Given the description of an element on the screen output the (x, y) to click on. 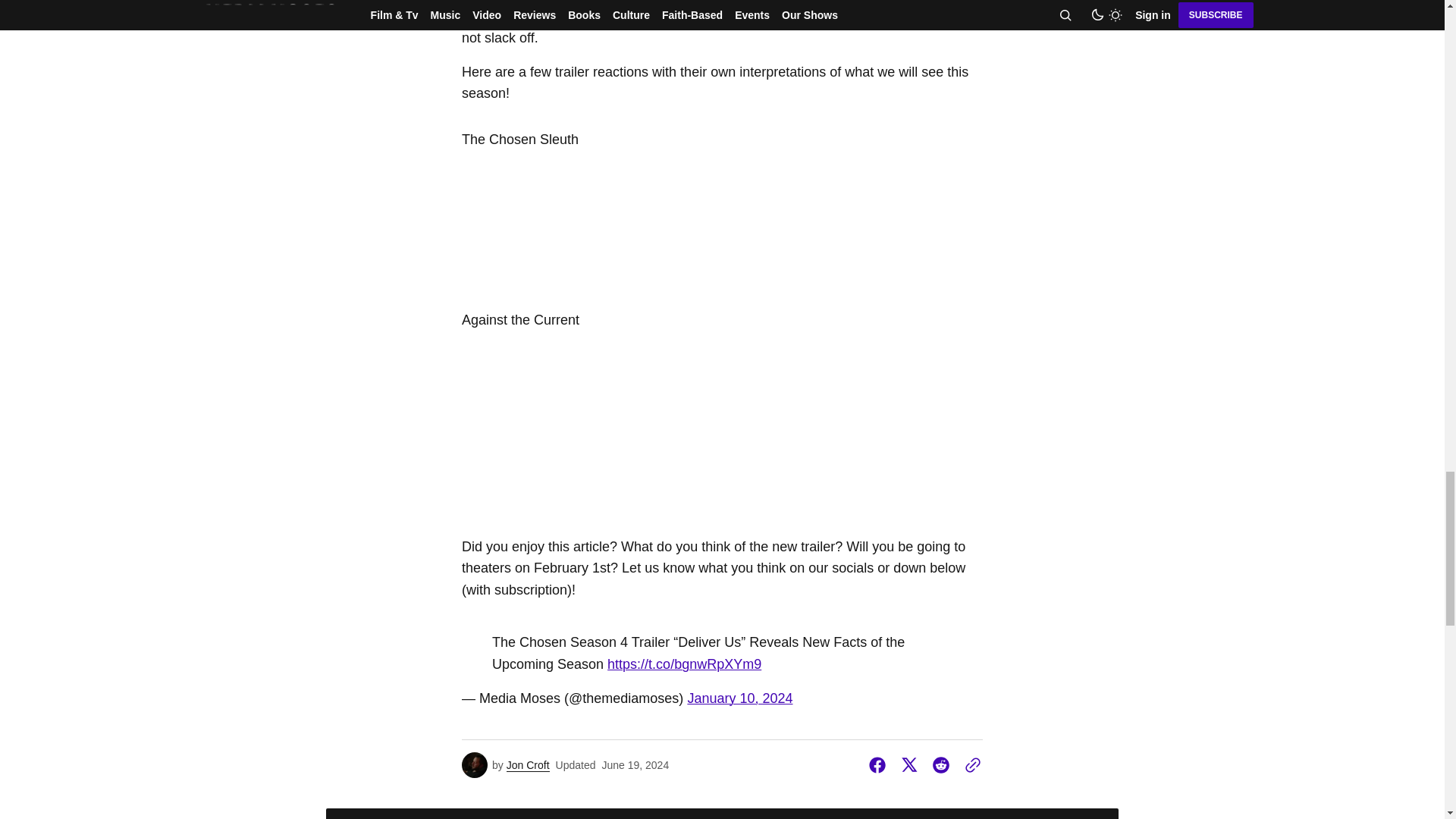
THE CHOSEN SEASON 4 NEW TRAILER REACTION! (721, 223)
